Given the description of an element on the screen output the (x, y) to click on. 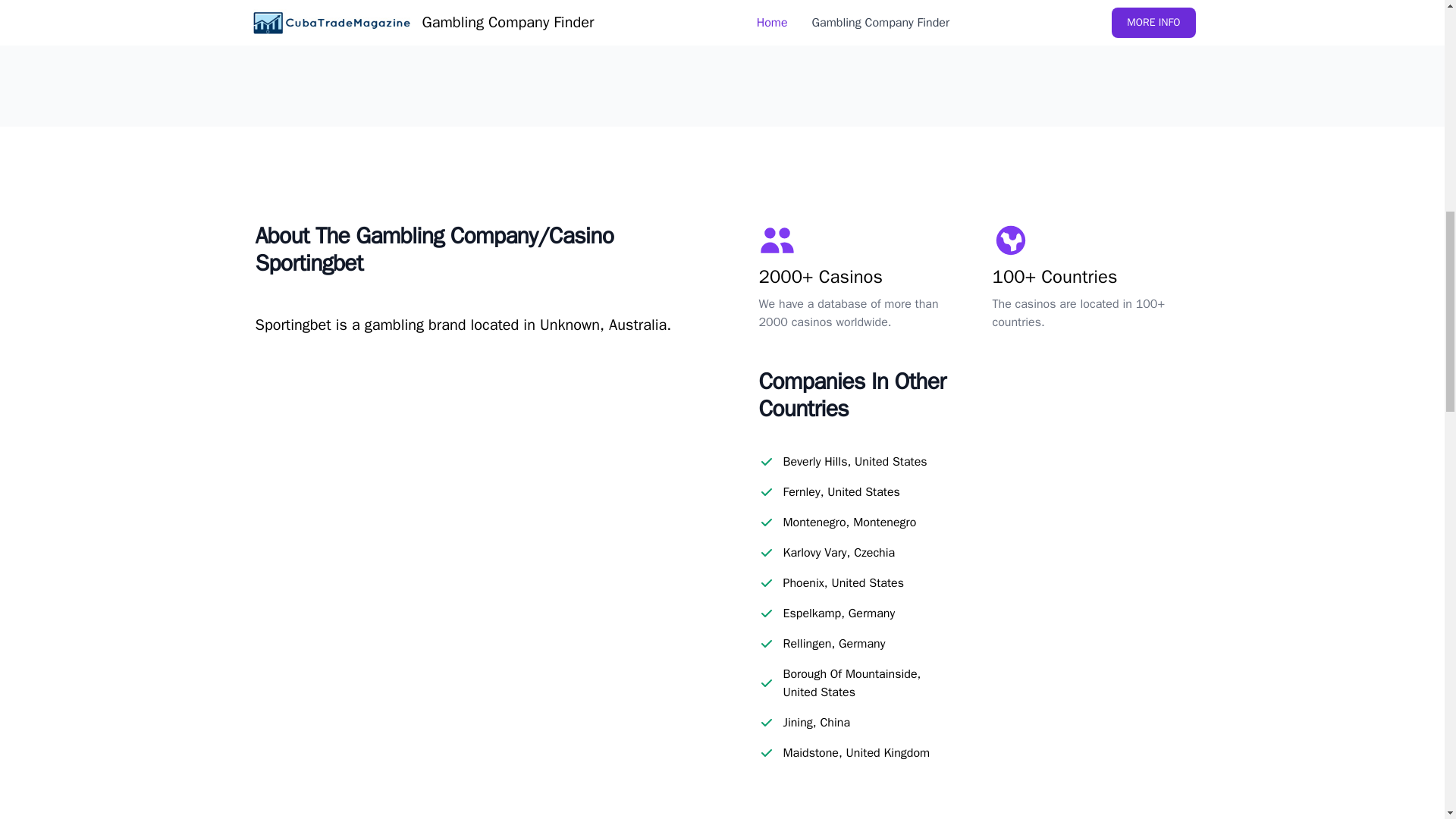
Fernley, United States (841, 492)
Beverly Hills, United States (854, 461)
Espelkamp, Germany (839, 613)
Phoenix, United States (842, 583)
Rellingen, Germany (834, 643)
Karlovy Vary, Czechia (839, 552)
Jining, China (816, 722)
Montenegro, Montenegro (849, 522)
Maidstone, United Kingdom (856, 752)
Borough Of Mountainside, United States (869, 683)
